Given the description of an element on the screen output the (x, y) to click on. 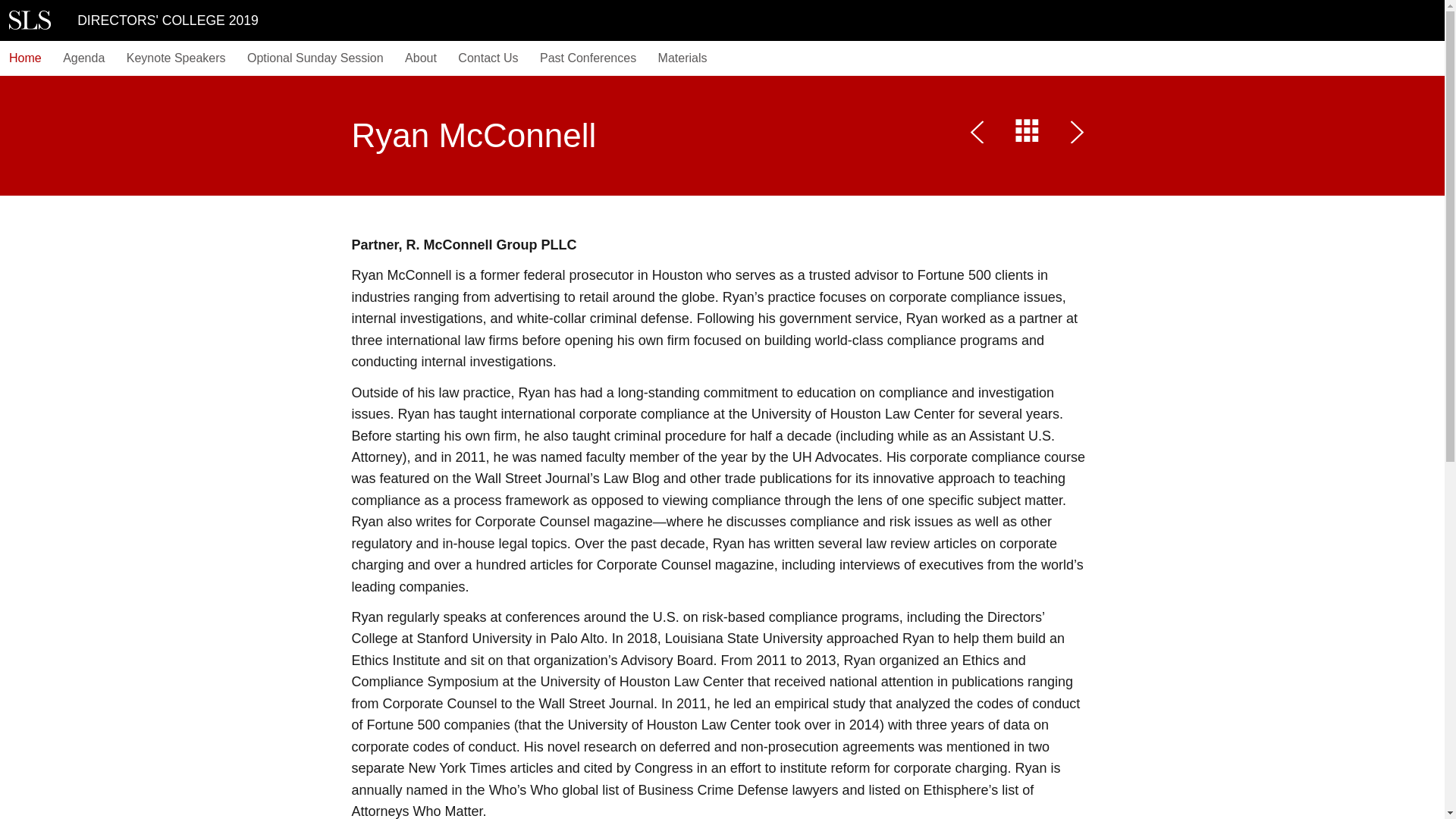
All (1026, 134)
Agenda (83, 58)
Materials (682, 58)
Home (25, 58)
Keynote Speakers (175, 58)
About (420, 58)
Contact Us (487, 58)
Optional Sunday Session (315, 58)
Past Conferences (588, 58)
Directors' College 2019 (29, 19)
